Given the description of an element on the screen output the (x, y) to click on. 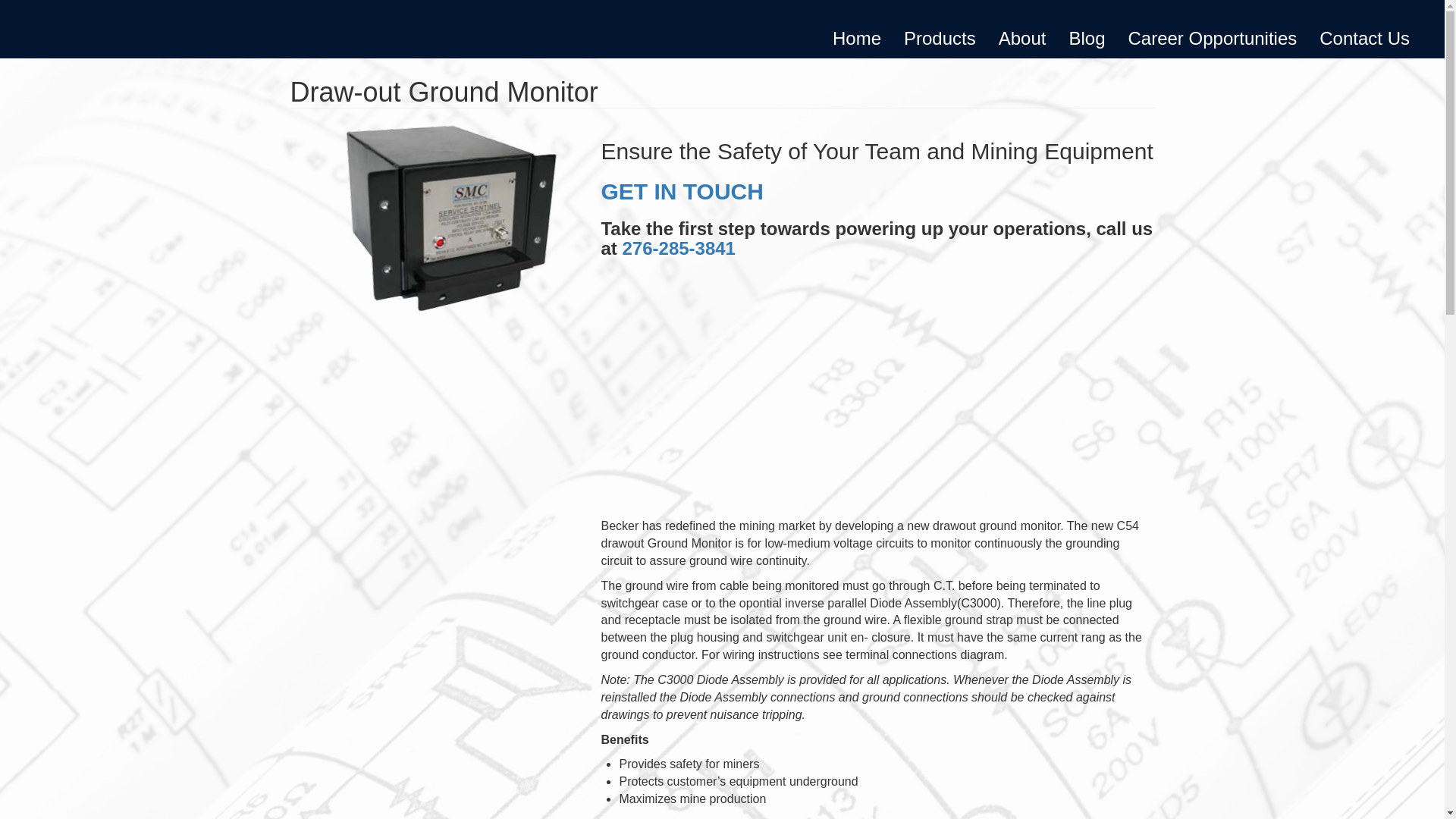
276-285-3841 (678, 248)
GET IN TOUCH (680, 191)
About (1022, 38)
Home (856, 38)
Blog (1086, 38)
Current Job Openings (1211, 38)
Products (939, 38)
Career Opportunities (1211, 38)
Contact Us (1364, 38)
YouTube video player (812, 385)
